Given the description of an element on the screen output the (x, y) to click on. 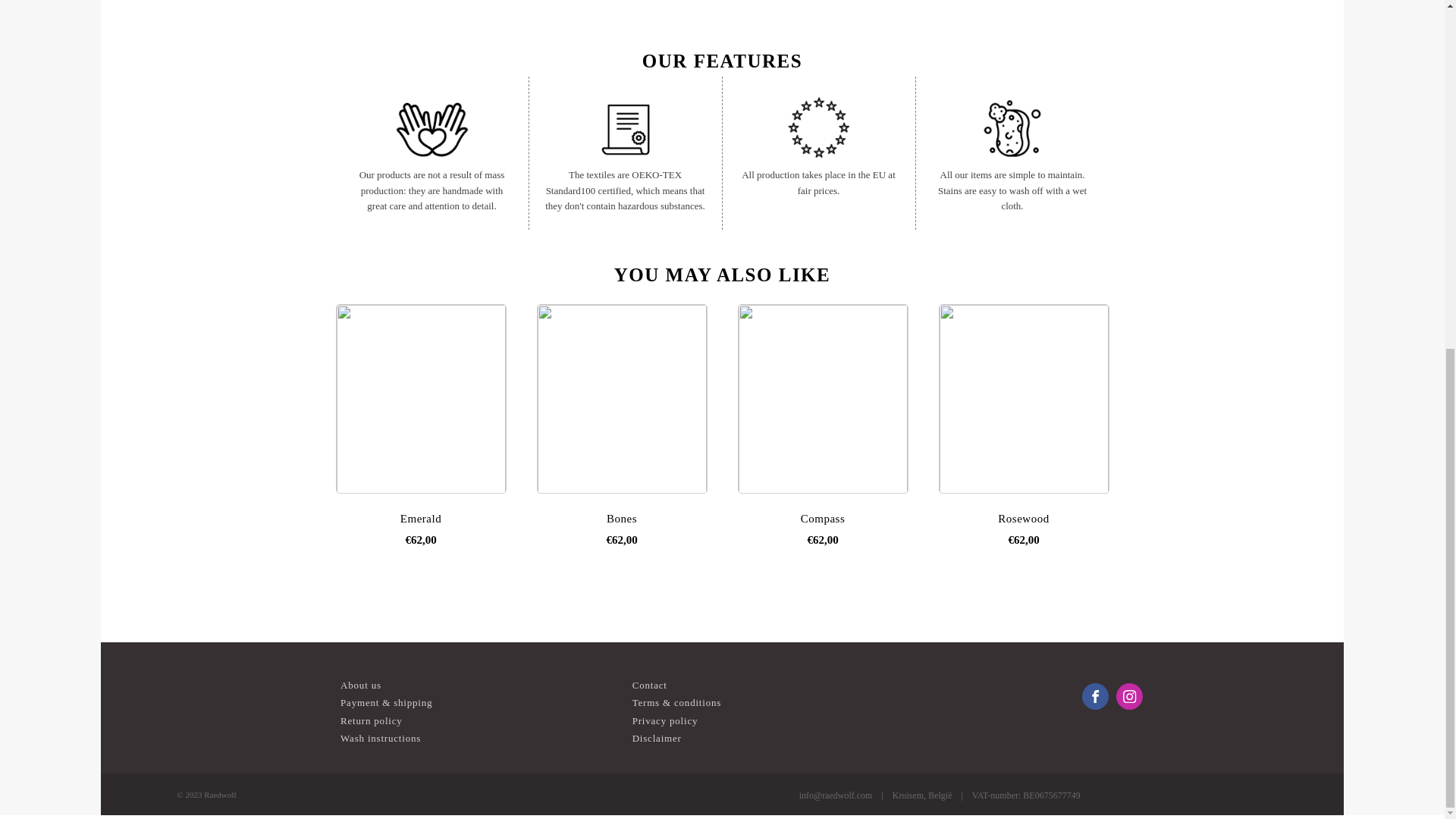
About us (360, 684)
Disclaimer (656, 737)
Privacy policy (664, 720)
Wash instructions (380, 737)
Contact (648, 684)
Return policy (371, 720)
